Given the description of an element on the screen output the (x, y) to click on. 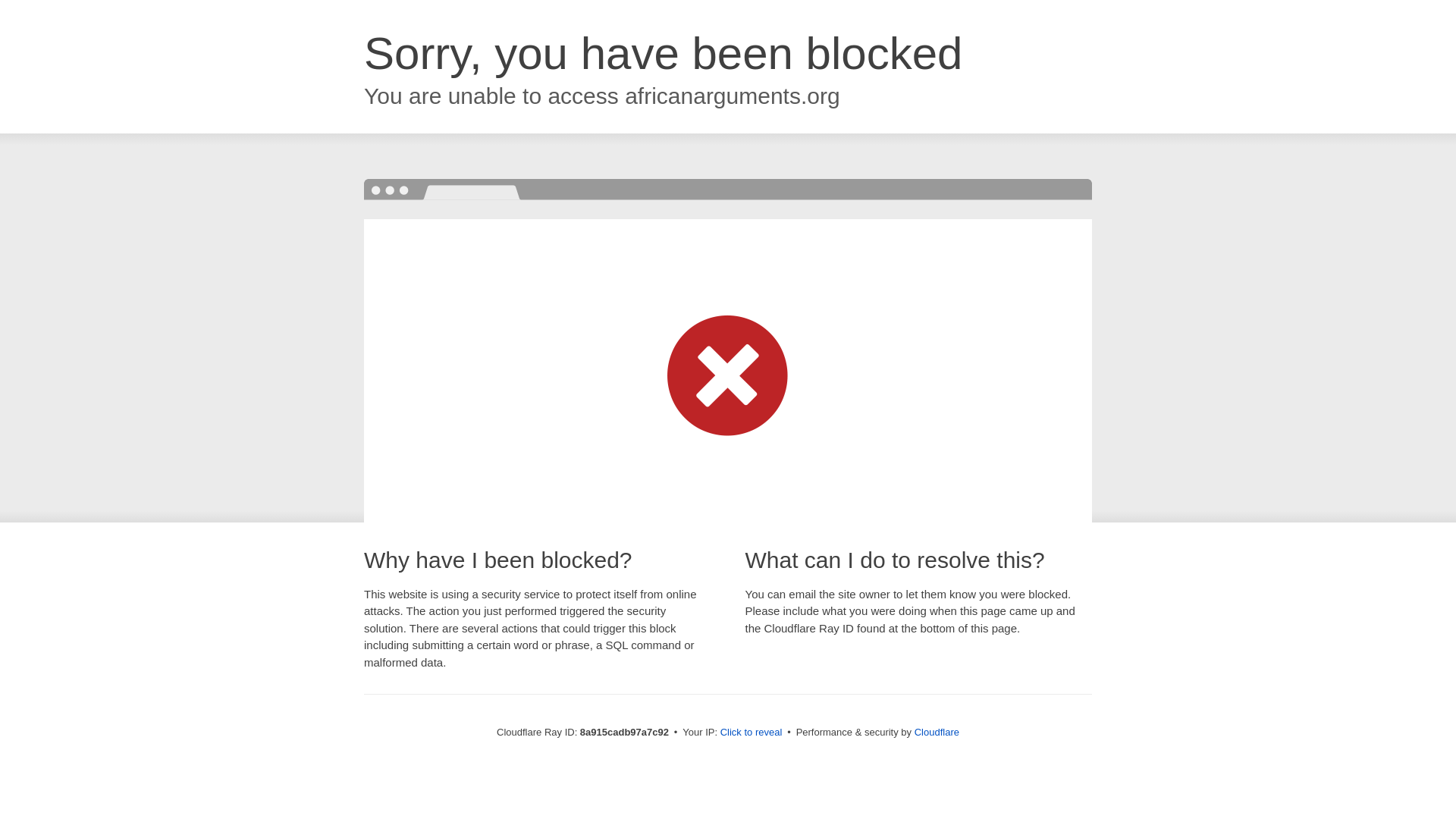
Cloudflare (936, 731)
Click to reveal (751, 732)
